Given the description of an element on the screen output the (x, y) to click on. 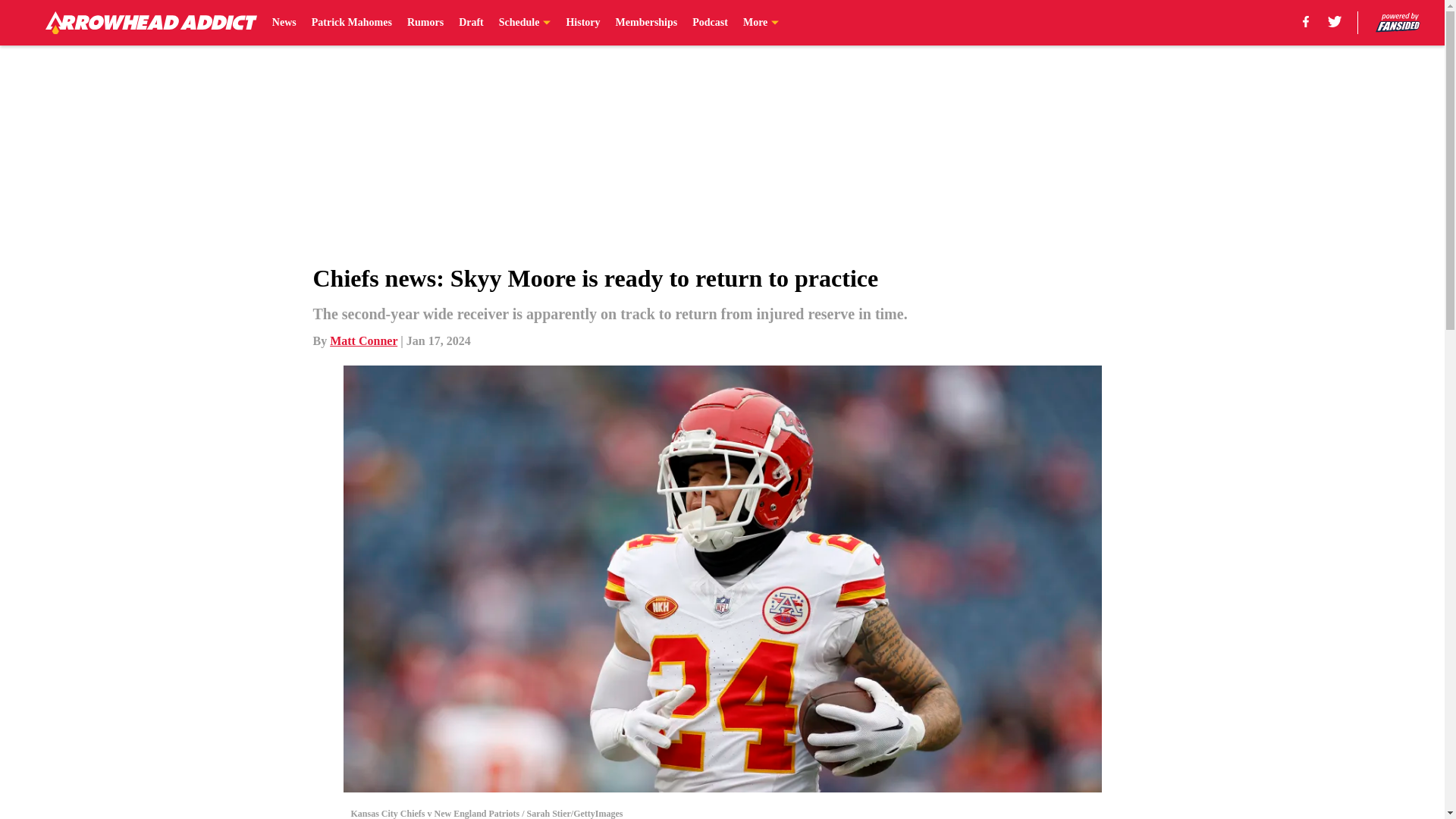
Draft (470, 22)
Rumors (425, 22)
Memberships (646, 22)
Patrick Mahomes (351, 22)
History (582, 22)
Matt Conner (363, 340)
News (284, 22)
Podcast (710, 22)
